Given the description of an element on the screen output the (x, y) to click on. 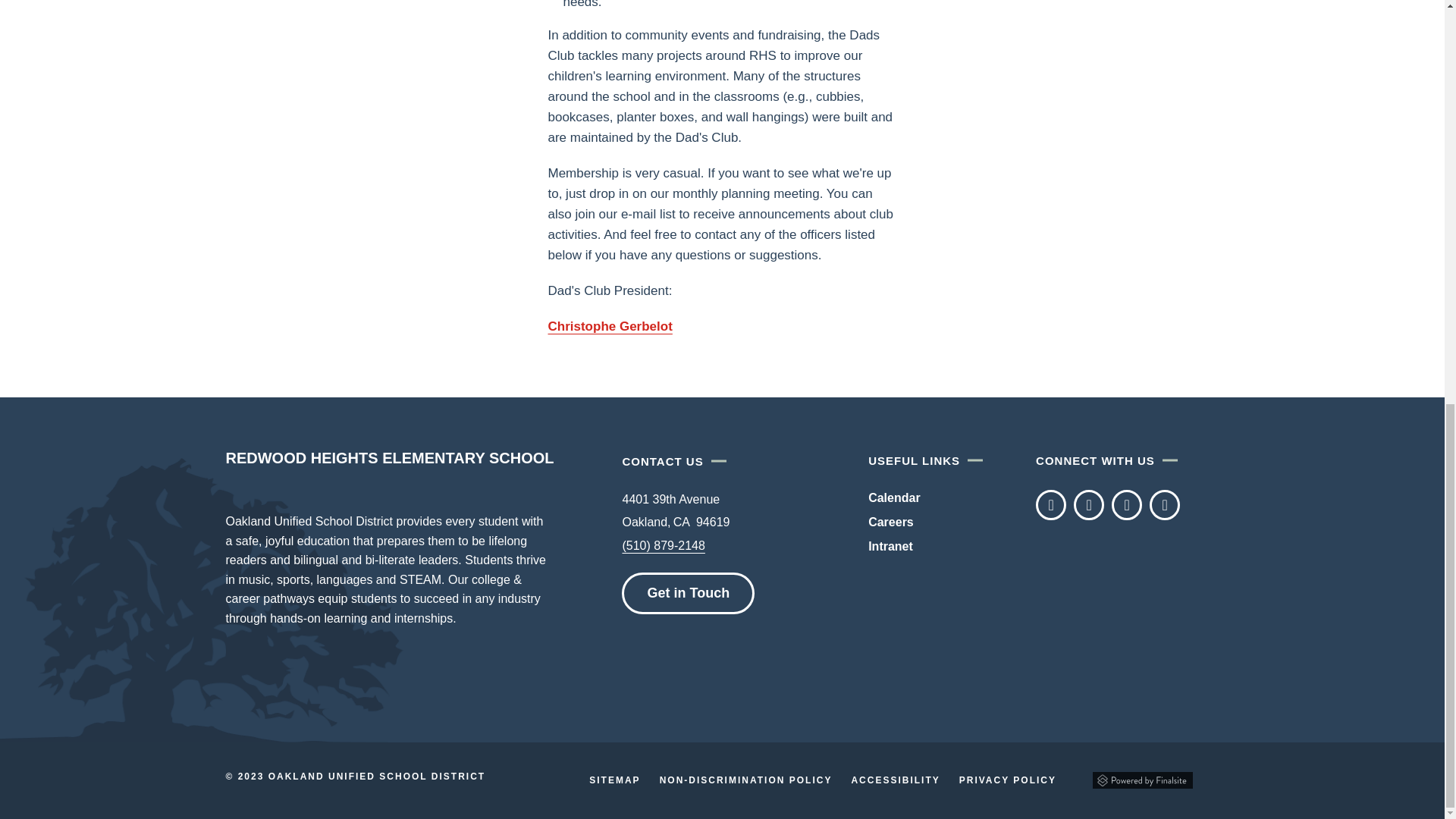
Powered by Finalsite opens in a new window (1142, 780)
